Given the description of an element on the screen output the (x, y) to click on. 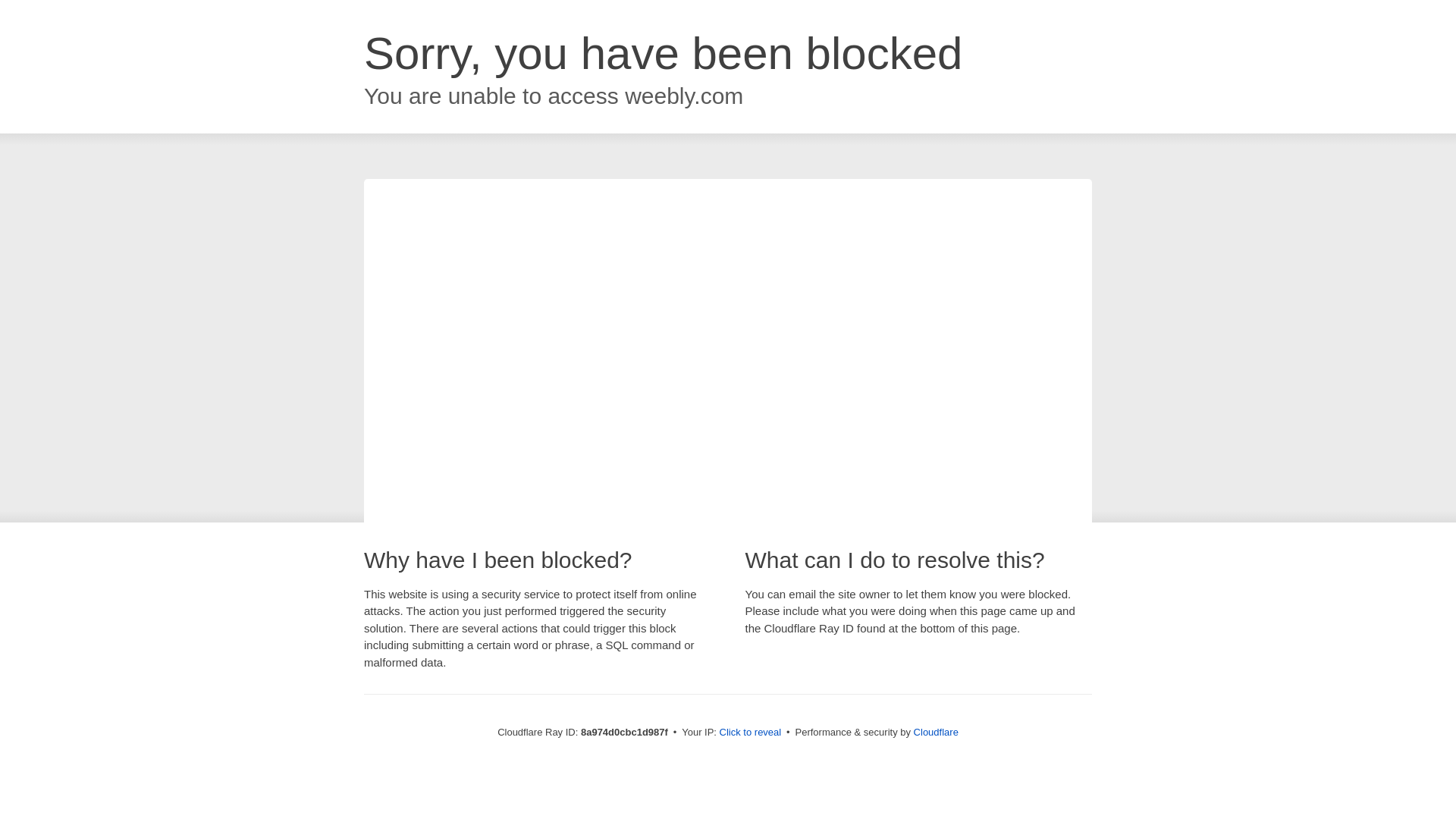
Click to reveal (750, 732)
Cloudflare (936, 731)
